Given the description of an element on the screen output the (x, y) to click on. 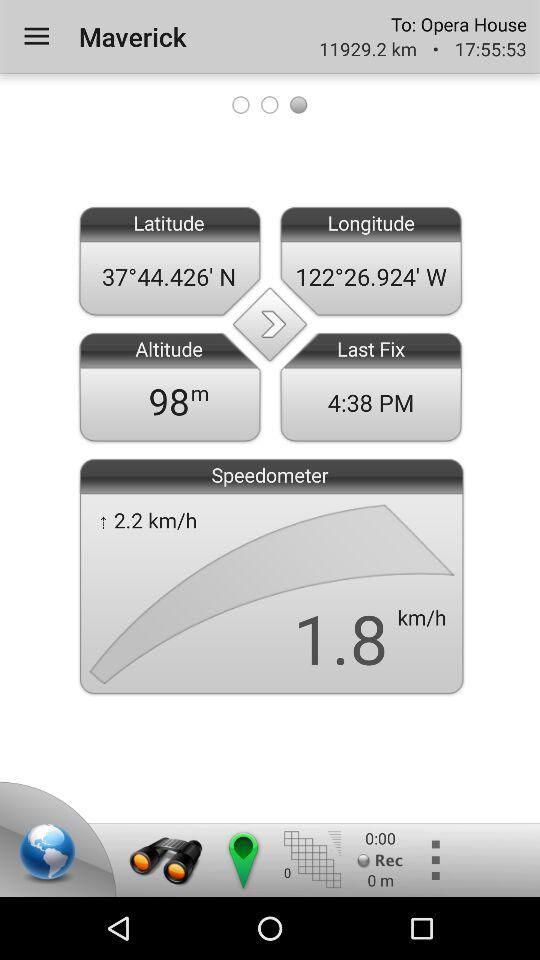
start recording (380, 860)
